Given the description of an element on the screen output the (x, y) to click on. 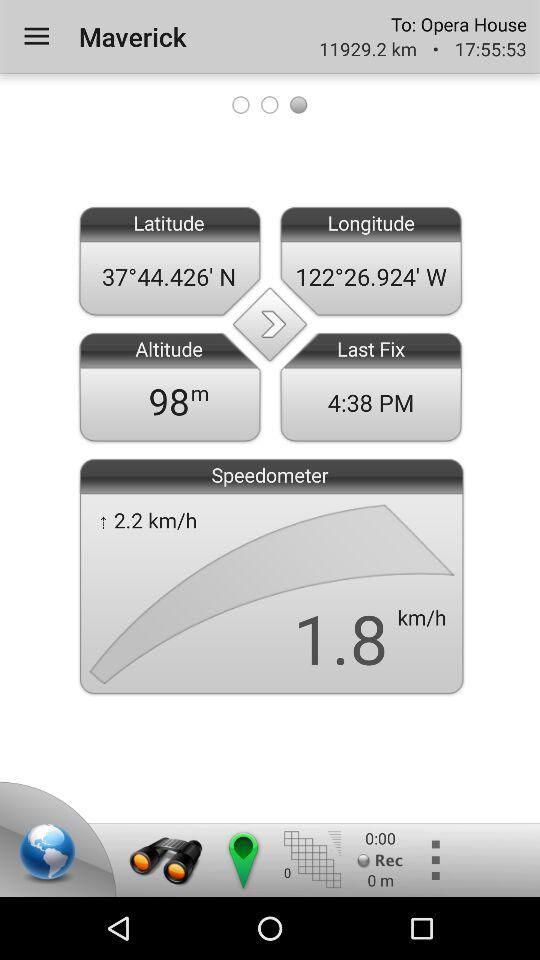
start recording (380, 860)
